Given the description of an element on the screen output the (x, y) to click on. 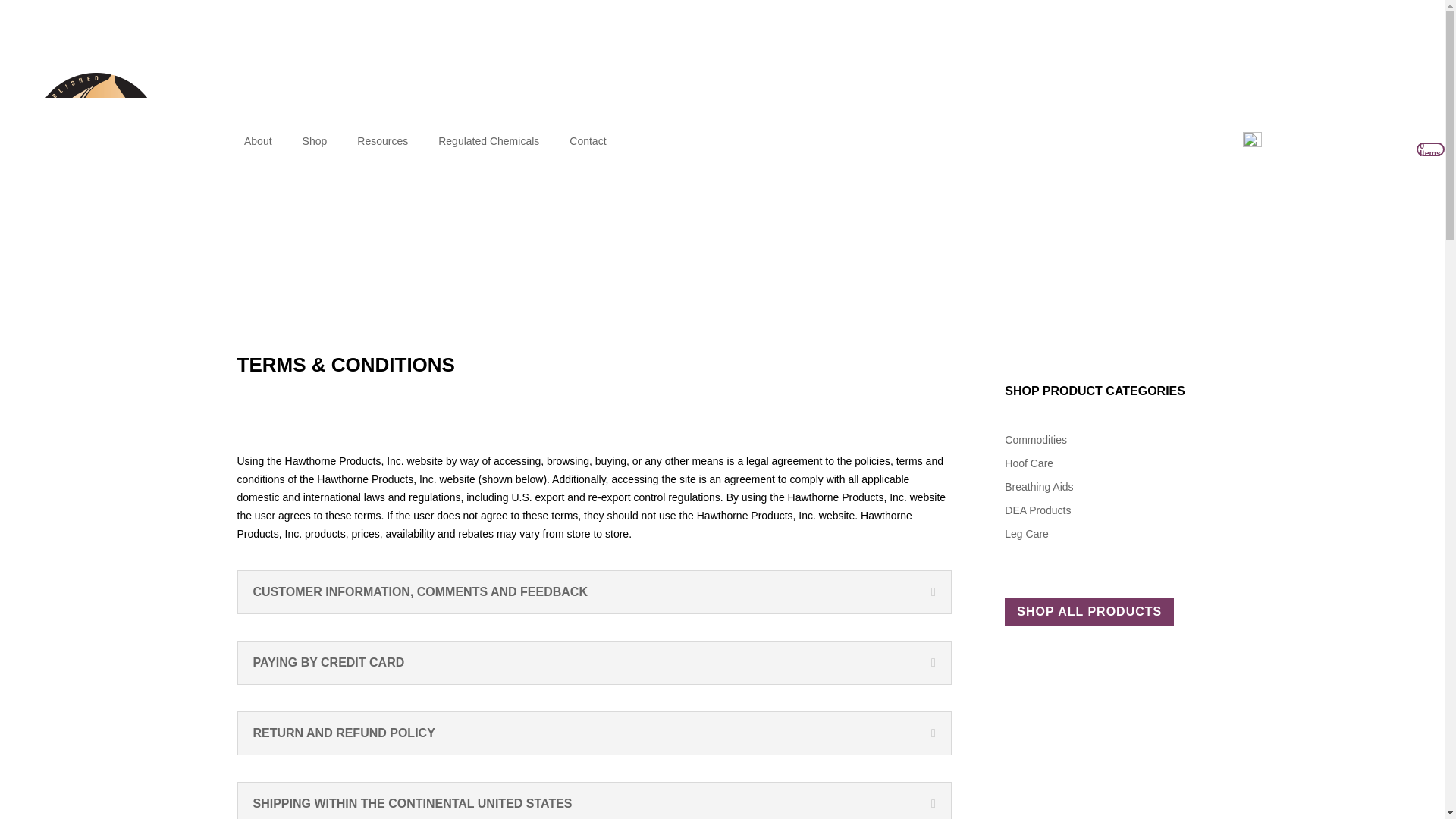
user-account-1 (1252, 140)
Breathing Aids (1038, 486)
DEA Products (1037, 510)
Commodities (1035, 439)
SHOP ALL PRODUCTS (1088, 611)
Leg Care (1026, 533)
Hoof Care (1028, 463)
